Given the description of an element on the screen output the (x, y) to click on. 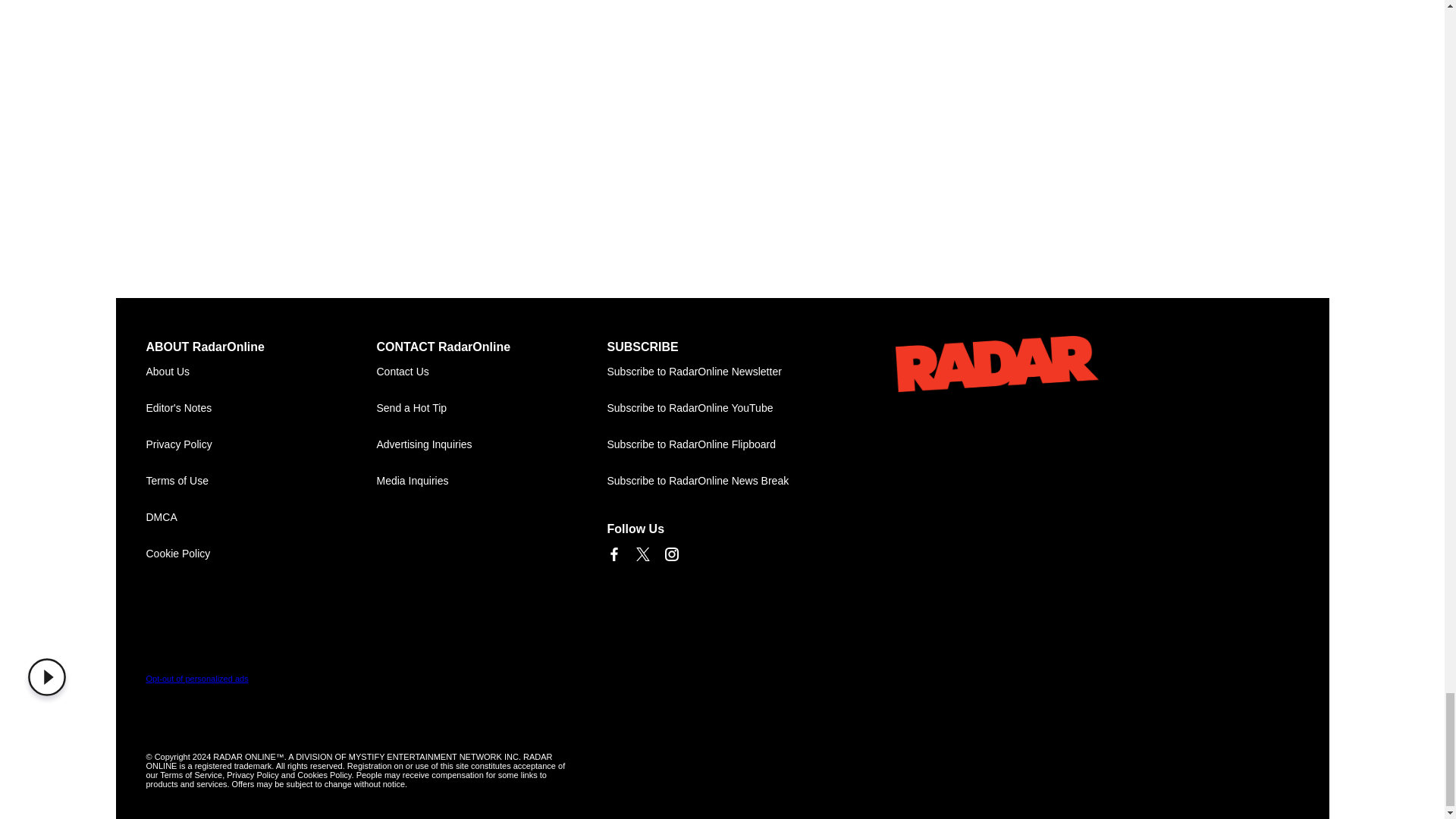
Cookie Policy (260, 554)
DMCA (260, 517)
Privacy Policy (260, 444)
Link to Instagram (670, 554)
About Us (260, 371)
Link to Facebook (613, 554)
Terms of Use (260, 481)
Link to X (641, 554)
Editor's Notes (260, 408)
